Given the description of an element on the screen output the (x, y) to click on. 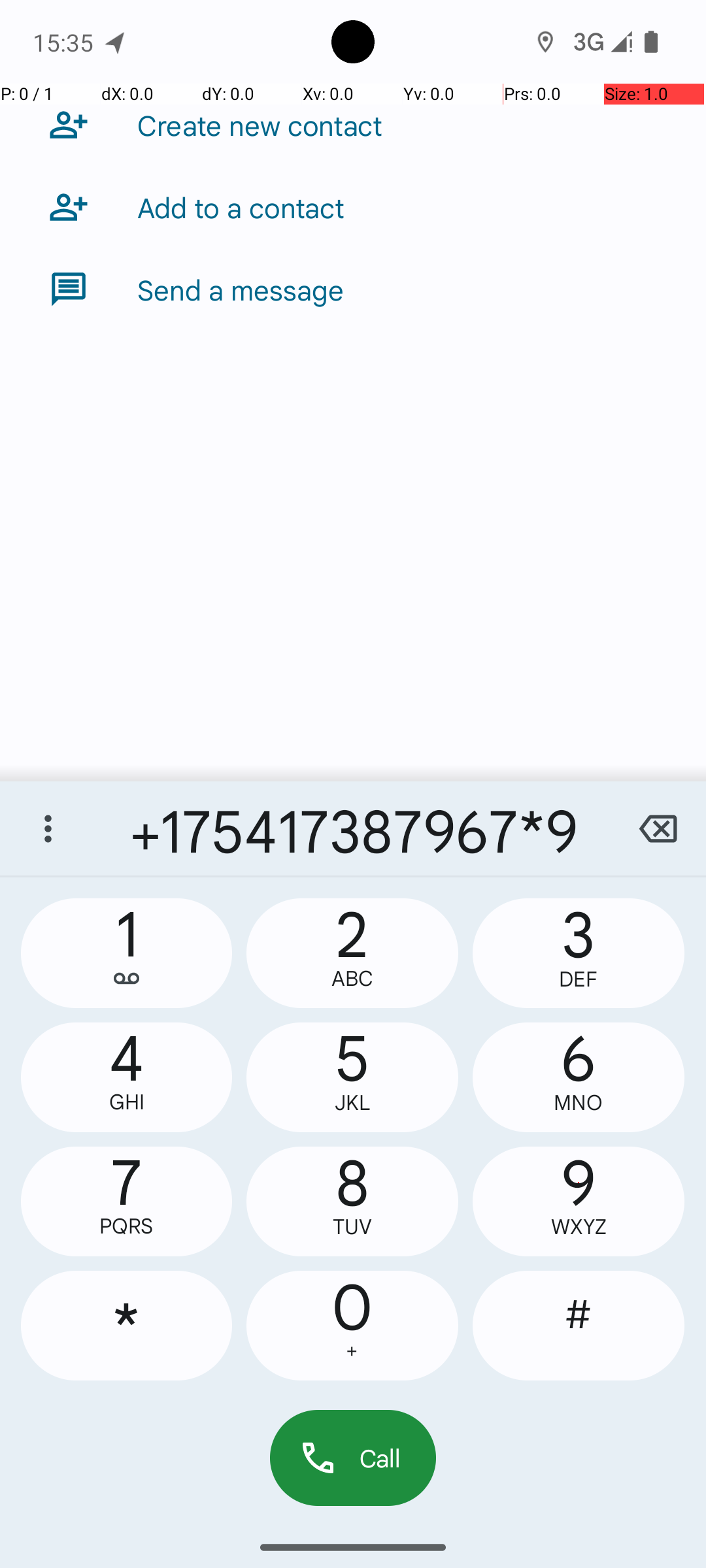
Call Element type: android.widget.Button (352, 1457)
+175417387967*9 Element type: android.widget.EditText (352, 828)
backspace Element type: android.widget.ImageButton (657, 828)
1, Element type: android.widget.FrameLayout (126, 953)
2,ABC Element type: android.widget.FrameLayout (352, 953)
3,DEF Element type: android.widget.FrameLayout (578, 953)
4,GHI Element type: android.widget.FrameLayout (126, 1077)
5,JKL Element type: android.widget.FrameLayout (352, 1077)
6,MNO Element type: android.widget.FrameLayout (578, 1077)
7,PQRS Element type: android.widget.FrameLayout (126, 1201)
8,TUV Element type: android.widget.FrameLayout (352, 1201)
9,WXYZ Element type: android.widget.FrameLayout (578, 1201)
* Element type: android.widget.FrameLayout (126, 1325)
ABC Element type: android.widget.TextView (351, 978)
DEF Element type: android.widget.TextView (578, 978)
GHI Element type: android.widget.TextView (126, 1101)
JKL Element type: android.widget.TextView (351, 1102)
MNO Element type: android.widget.TextView (578, 1102)
PQRS Element type: android.widget.TextView (126, 1225)
TUV Element type: android.widget.TextView (351, 1226)
WXYZ Element type: android.widget.TextView (578, 1226)
+ Element type: android.widget.TextView (351, 1351)
Create new contact Element type: android.widget.TextView (260, 124)
Add to a contact Element type: android.widget.TextView (240, 206)
Send a message Element type: android.widget.TextView (240, 289)
